Given the description of an element on the screen output the (x, y) to click on. 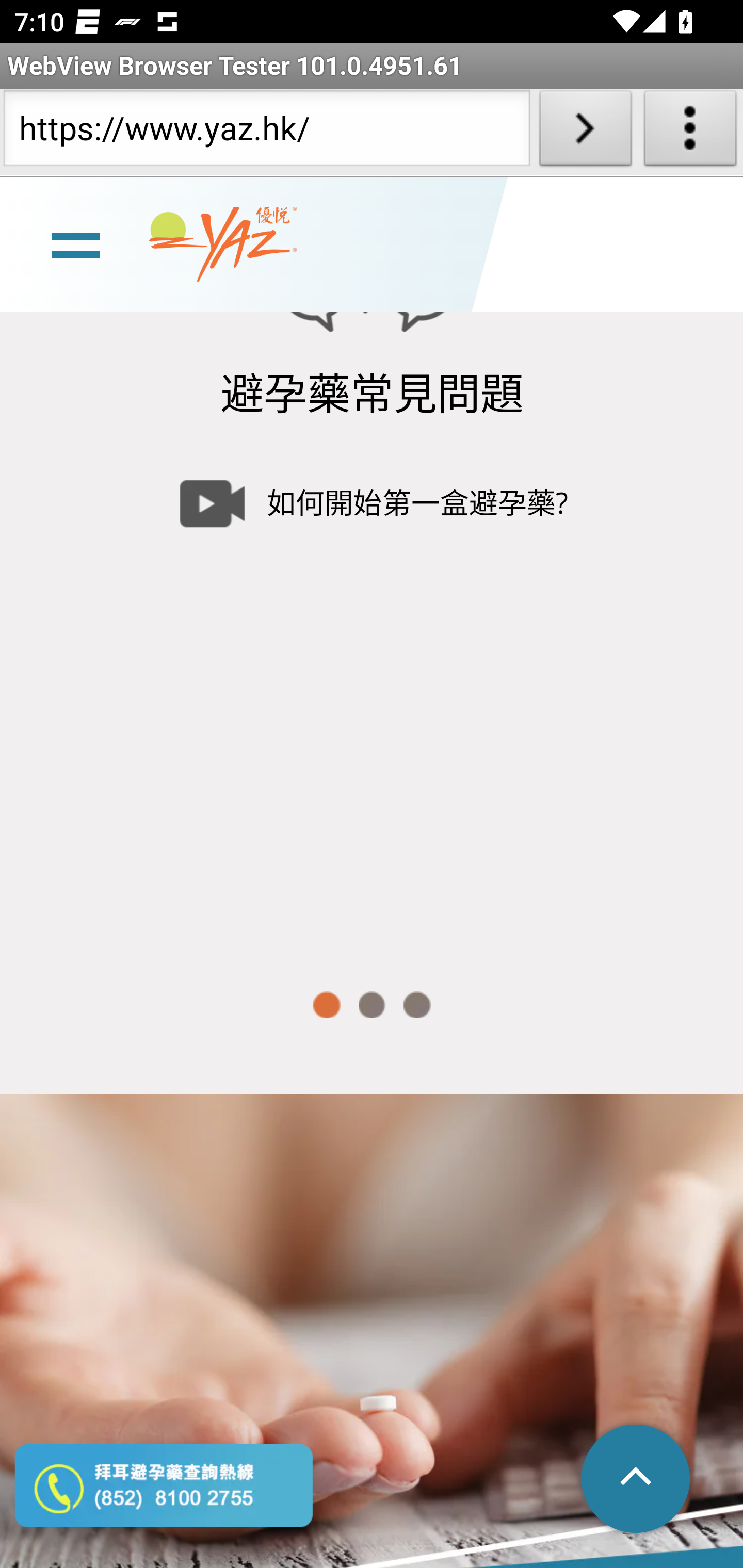
https://www.yaz.hk/ (266, 132)
Load URL (585, 132)
About WebView (690, 132)
www.yaz (222, 244)
line Toggle burger menu (75, 242)
slide 1 如何開始第一盒避孕藥? Video Player Video Player (371, 694)
1 of 3 (326, 1004)
2 of 3 (371, 1004)
3 of 3 (416, 1004)
 (636, 1480)
